Given the description of an element on the screen output the (x, y) to click on. 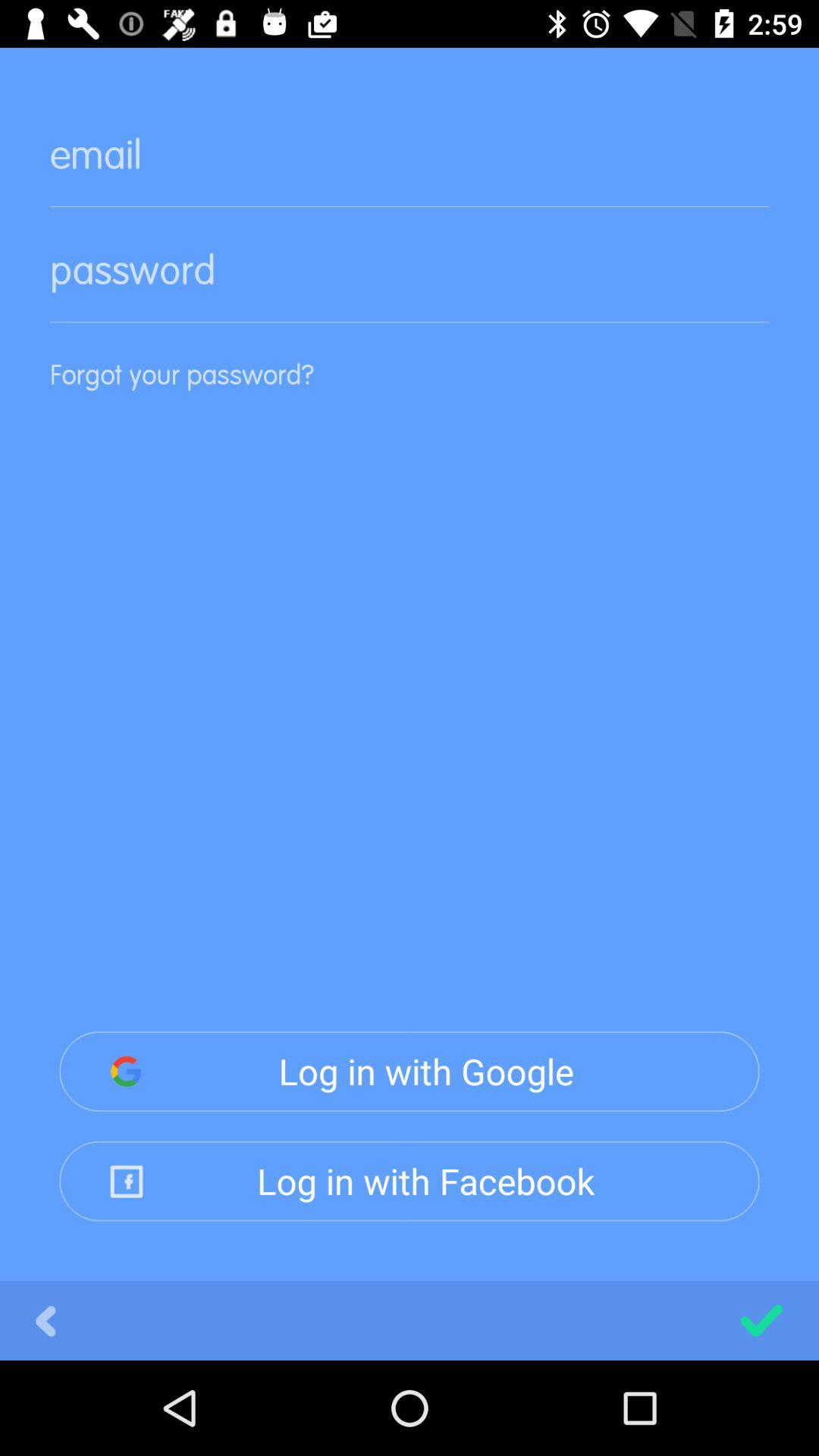
box for email (409, 167)
